Given the description of an element on the screen output the (x, y) to click on. 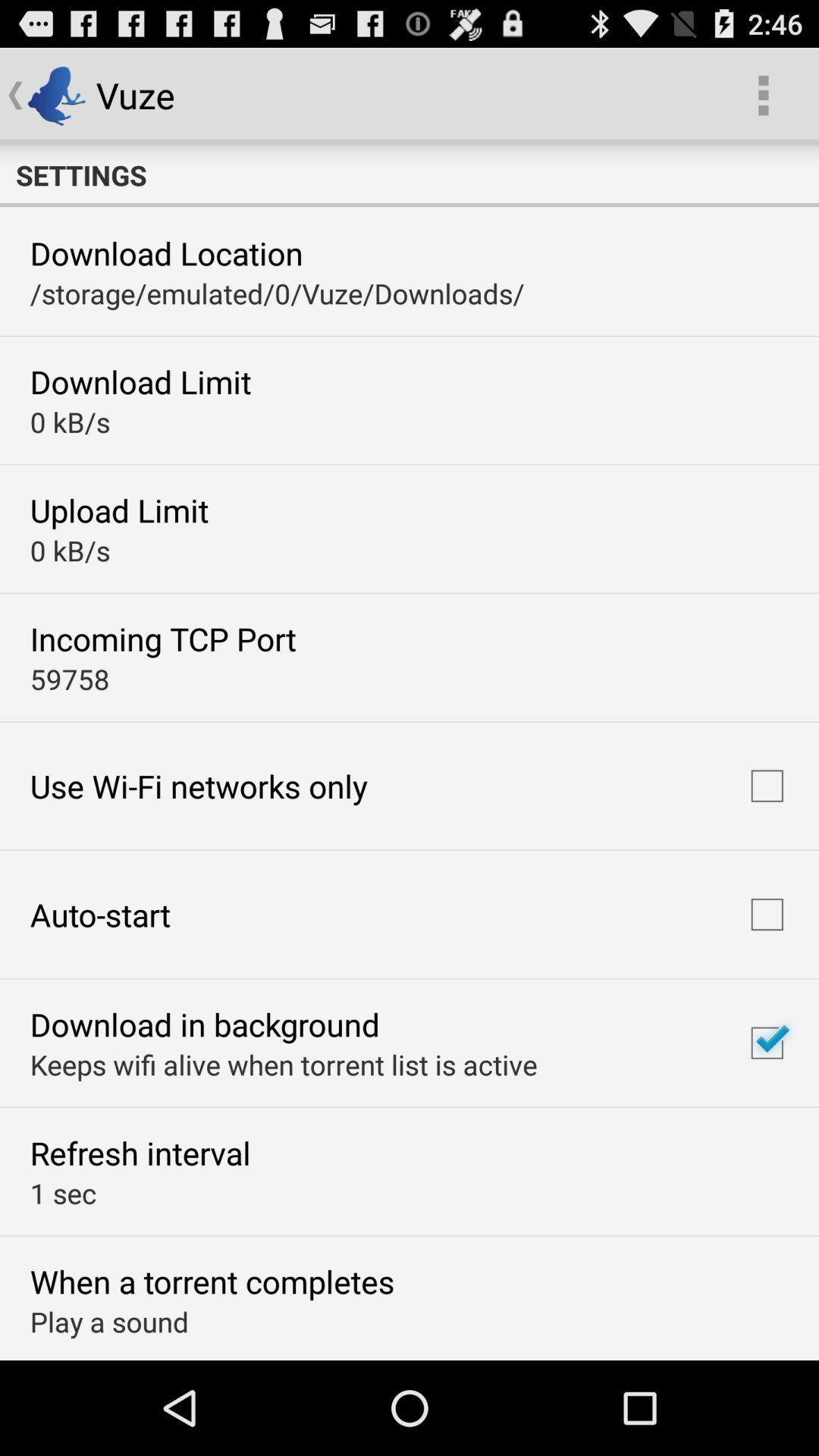
turn off icon above the use wi fi app (69, 678)
